Given the description of an element on the screen output the (x, y) to click on. 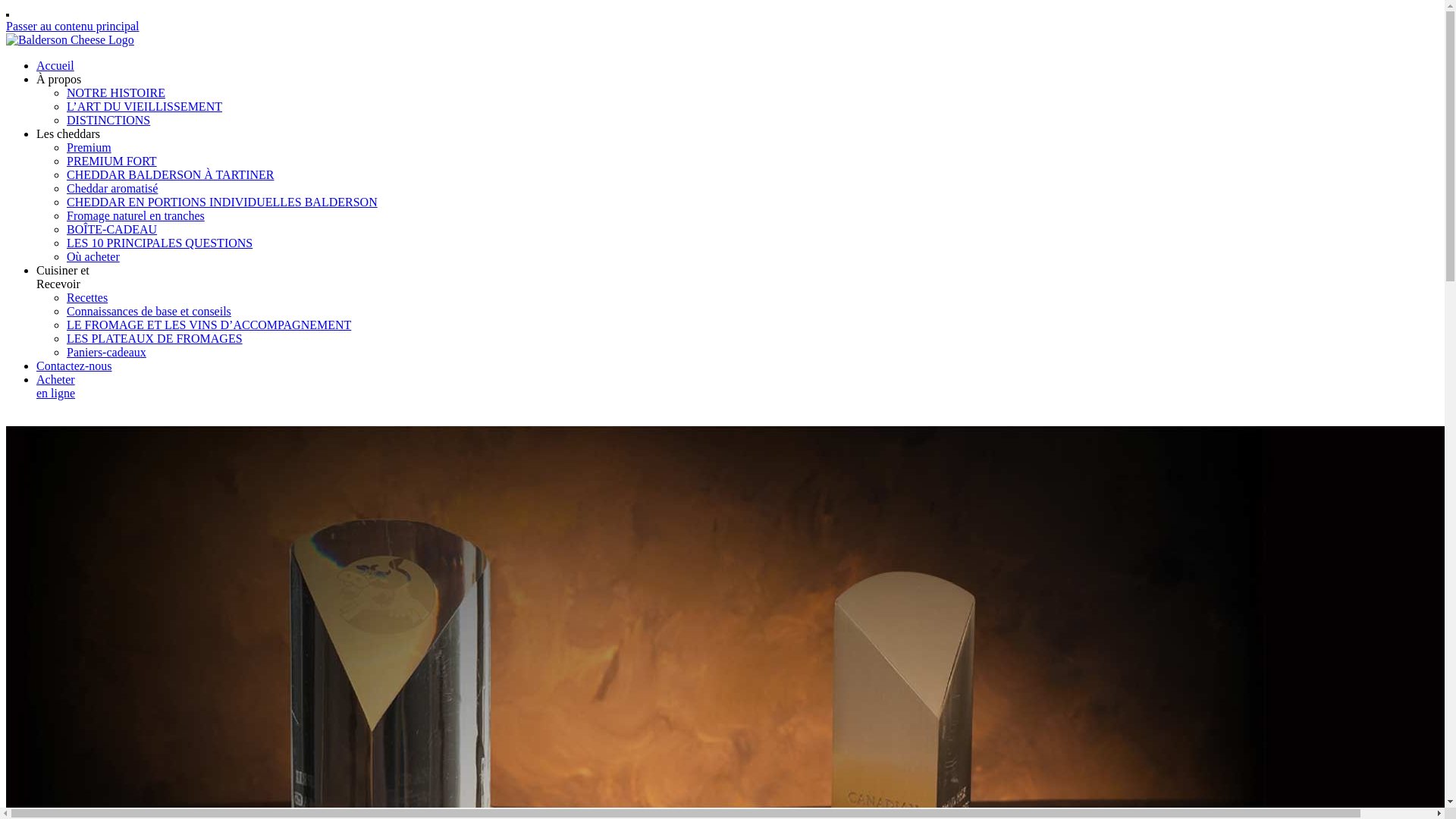
Accueil Element type: text (55, 65)
Connaissances de base et conseils Element type: text (148, 310)
NOTRE HISTOIRE Element type: text (115, 92)
LES 10 PRINCIPALES QUESTIONS Element type: text (159, 242)
Contactez-nous Element type: text (74, 365)
Premium Element type: text (88, 147)
Fromage naturel en tranches Element type: text (135, 215)
Recettes Element type: text (86, 297)
Acheter
en ligne Element type: text (55, 386)
LES PLATEAUX DE FROMAGES Element type: text (154, 338)
Paniers-cadeaux Element type: text (106, 351)
PREMIUM FORT Element type: text (111, 160)
Passer au contenu principal Element type: text (72, 25)
CHEDDAR EN PORTIONS INDIVIDUELLES BALDERSON Element type: text (221, 201)
Les cheddars Element type: text (68, 133)
DISTINCTIONS Element type: text (108, 119)
Cuisiner et
Recevoir Element type: text (62, 276)
